Given the description of an element on the screen output the (x, y) to click on. 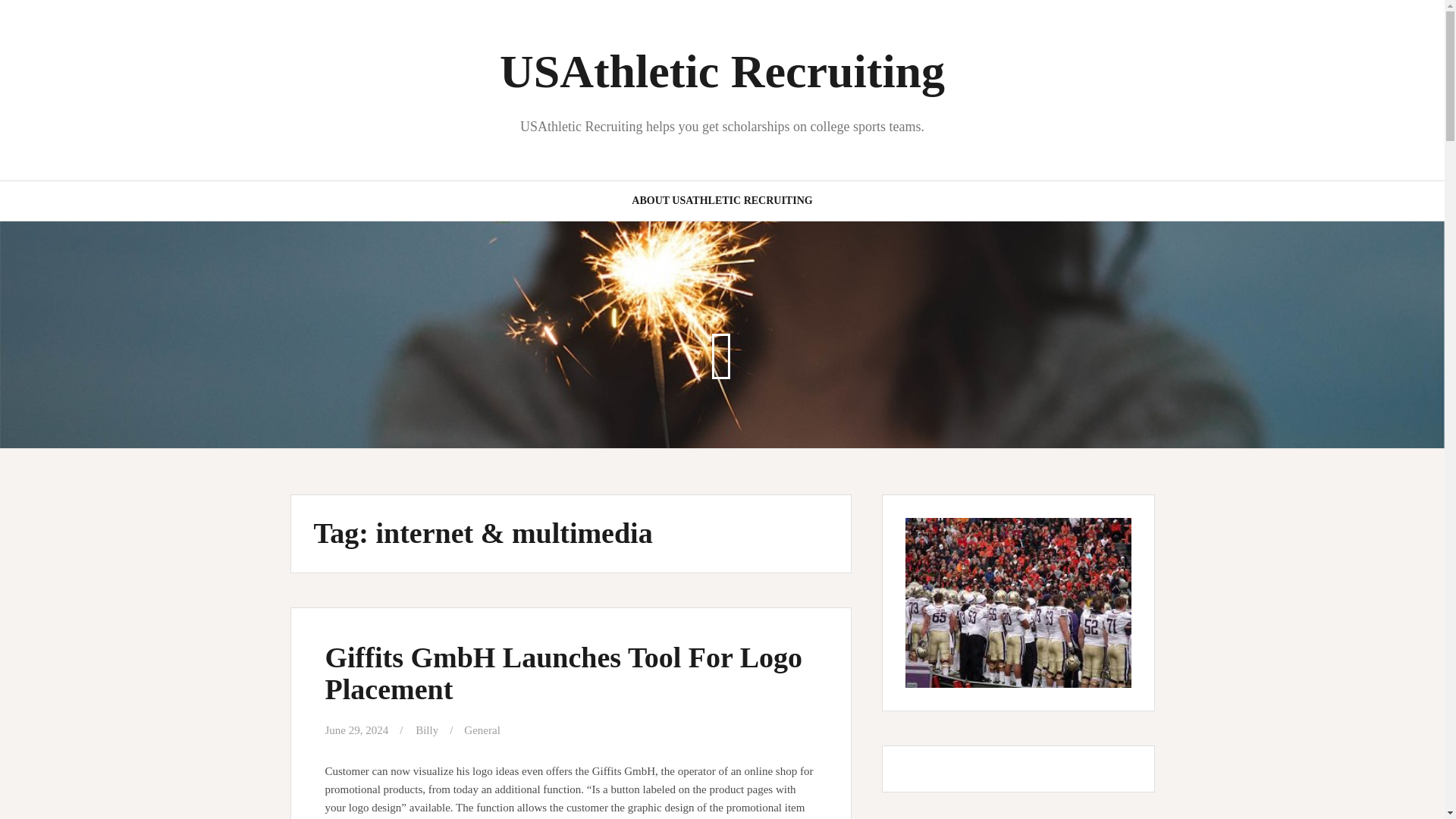
USAthletic Recruiting (721, 71)
General (481, 729)
ABOUT USATHLETIC RECRUITING (721, 200)
Billy (426, 729)
June 29, 2024 (356, 729)
Giffits GmbH Launches Tool For Logo Placement (563, 673)
